Given the description of an element on the screen output the (x, y) to click on. 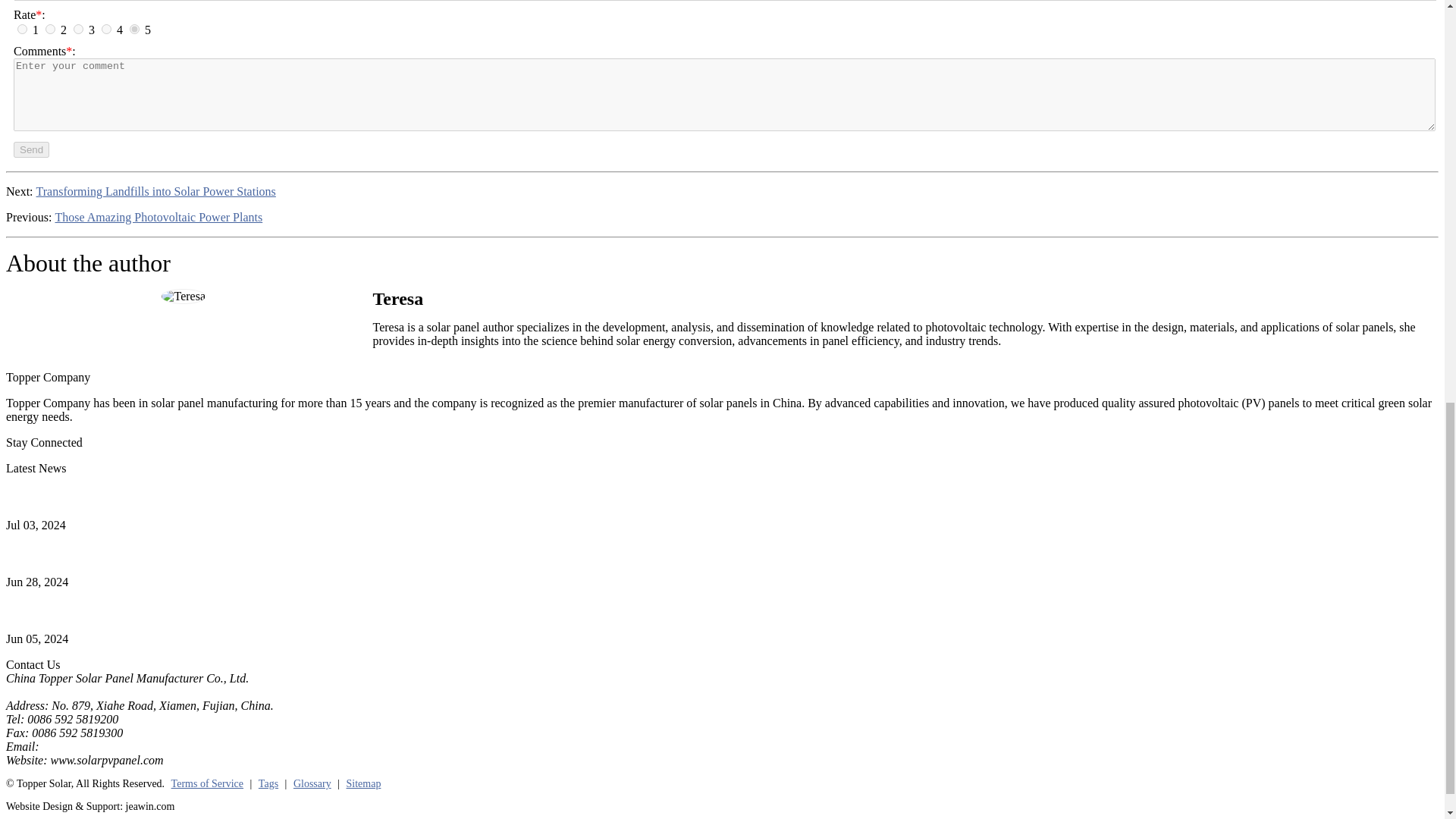
1 (22, 29)
Key Technologies Needed for Space Solar Power Stations (145, 496)
Teresa (183, 296)
Sitemap (363, 784)
2 (50, 29)
Key Technologies Needed for Space Solar Power Stations (145, 496)
Those Amazing Photovoltaic Power Plants (158, 217)
Glossary (312, 784)
Transforming Landfills into Solar Power Stations (156, 192)
5 (134, 29)
Traditional Energy Versus New Energy (100, 610)
4 (106, 29)
Photovoltaic Systems (57, 553)
Those Amazing Photovoltaic Power Plants (158, 217)
3 (78, 29)
